Given the description of an element on the screen output the (x, y) to click on. 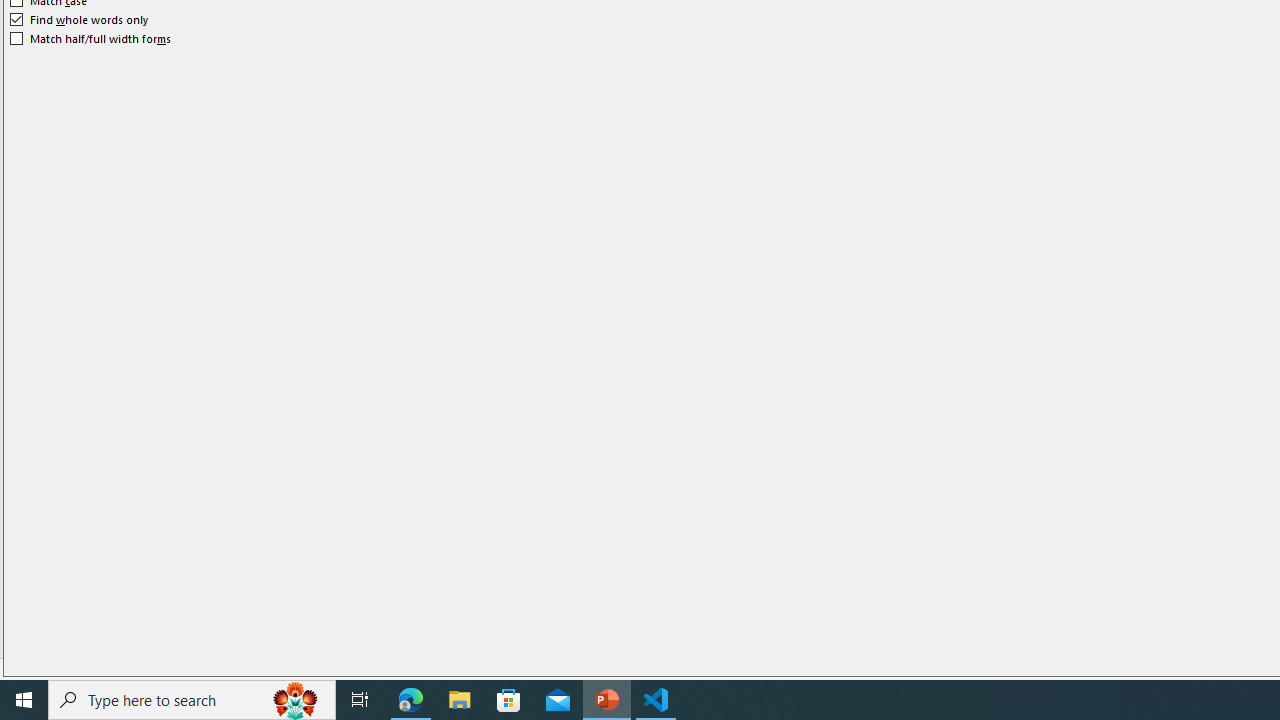
Match half/full width forms (91, 38)
Find whole words only (79, 20)
